Given the description of an element on the screen output the (x, y) to click on. 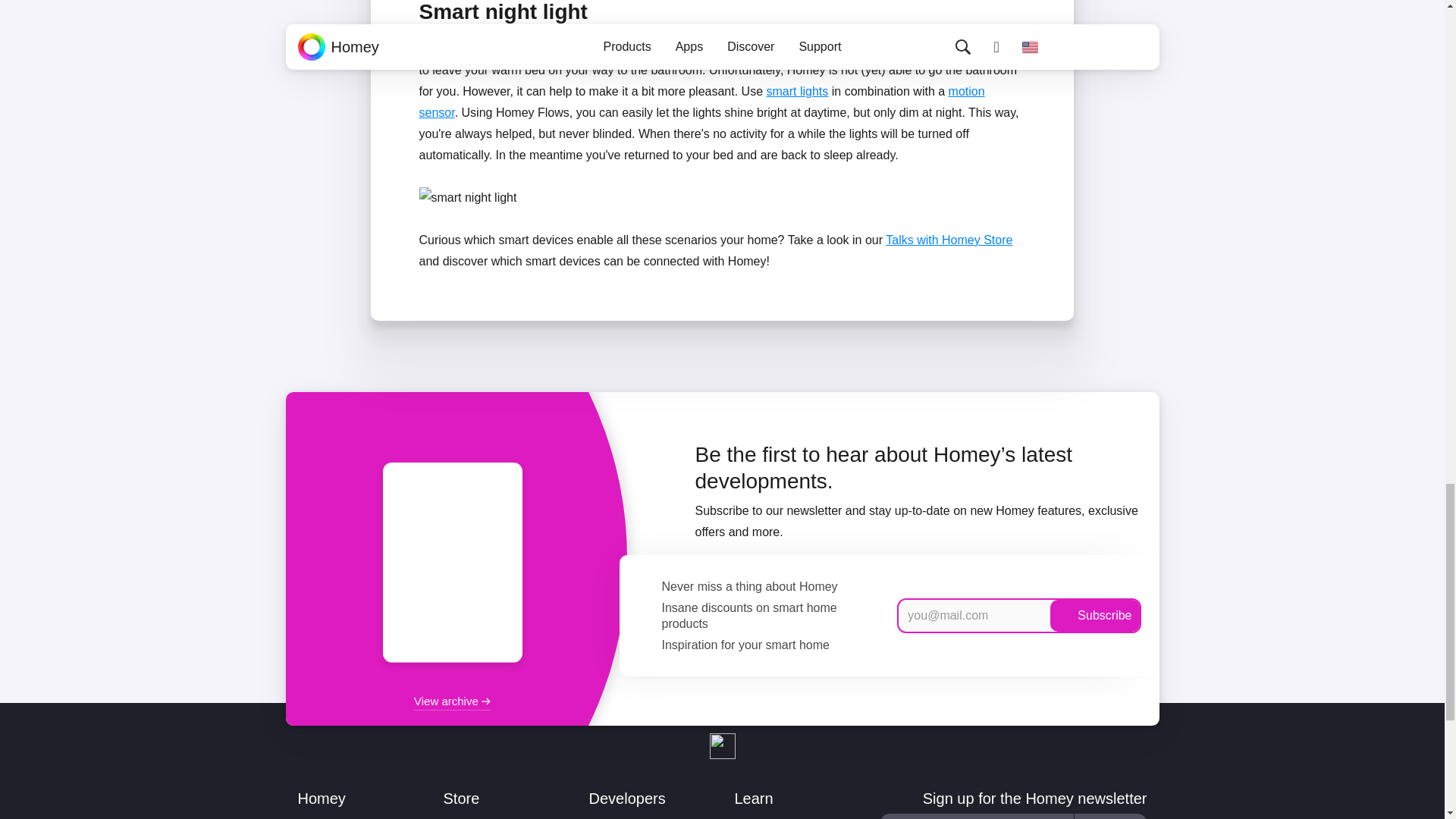
Subscribe (1093, 615)
Subscribe (1110, 816)
